Given the description of an element on the screen output the (x, y) to click on. 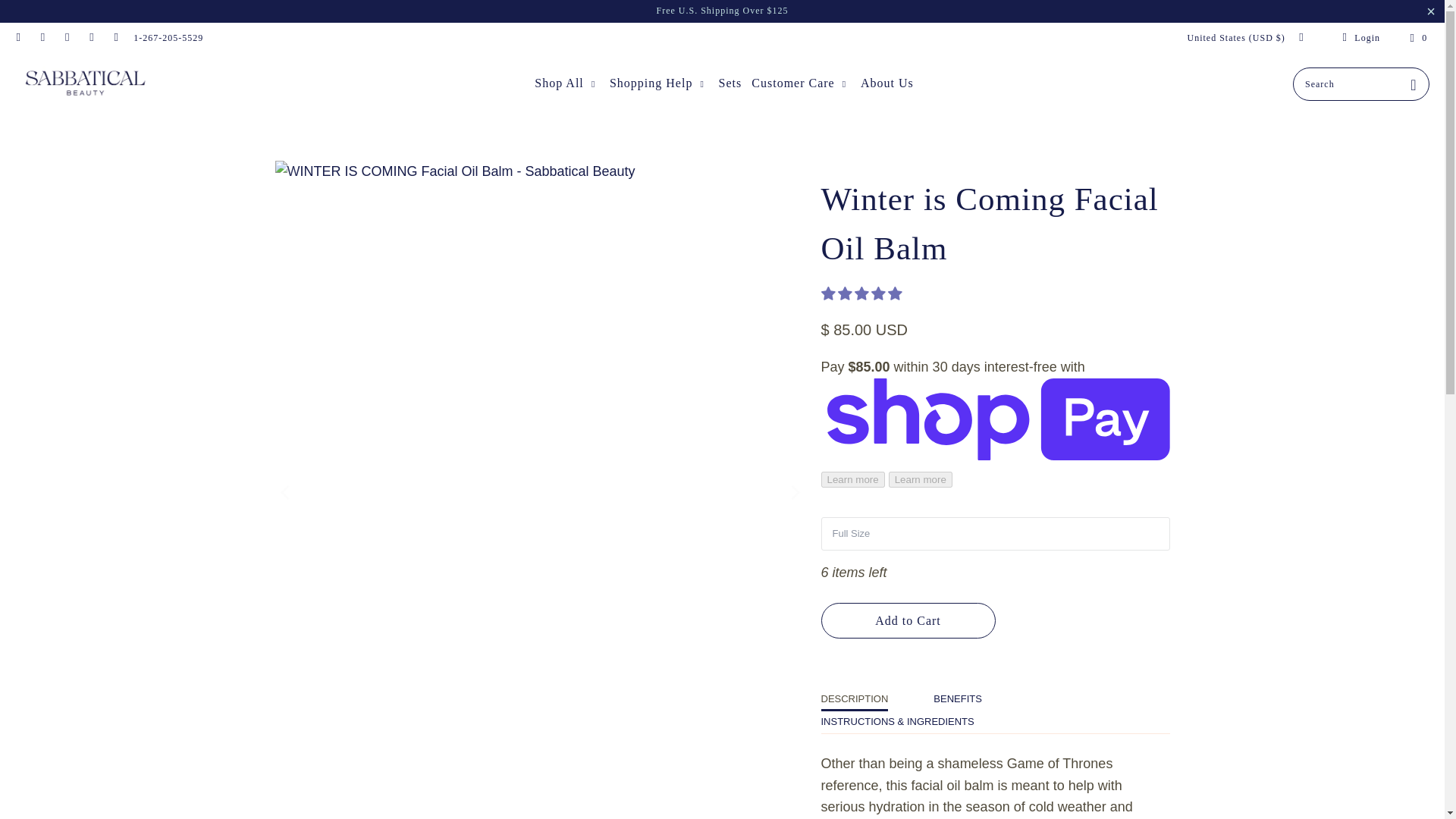
Email Sabbatical Beauty (115, 37)
Sabbatical Beauty (84, 83)
Sabbatical Beauty on Instagram (90, 37)
Sabbatical Beauty on Facebook (17, 37)
Sabbatical Beauty on Pinterest (67, 37)
My Account  (1359, 38)
Sabbatical Beauty on YouTube (41, 37)
